Given the description of an element on the screen output the (x, y) to click on. 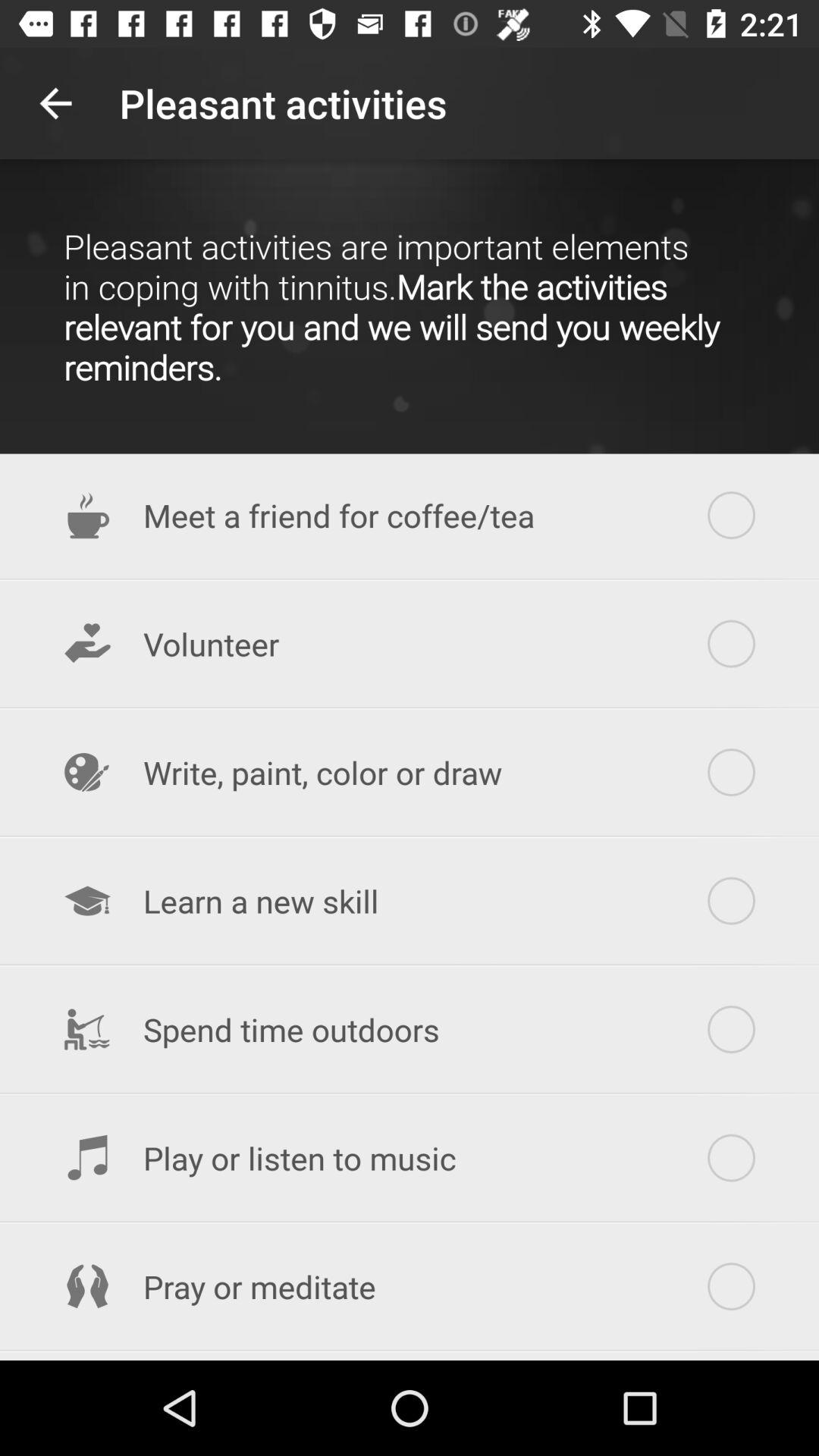
click the learn a new (409, 900)
